Given the description of an element on the screen output the (x, y) to click on. 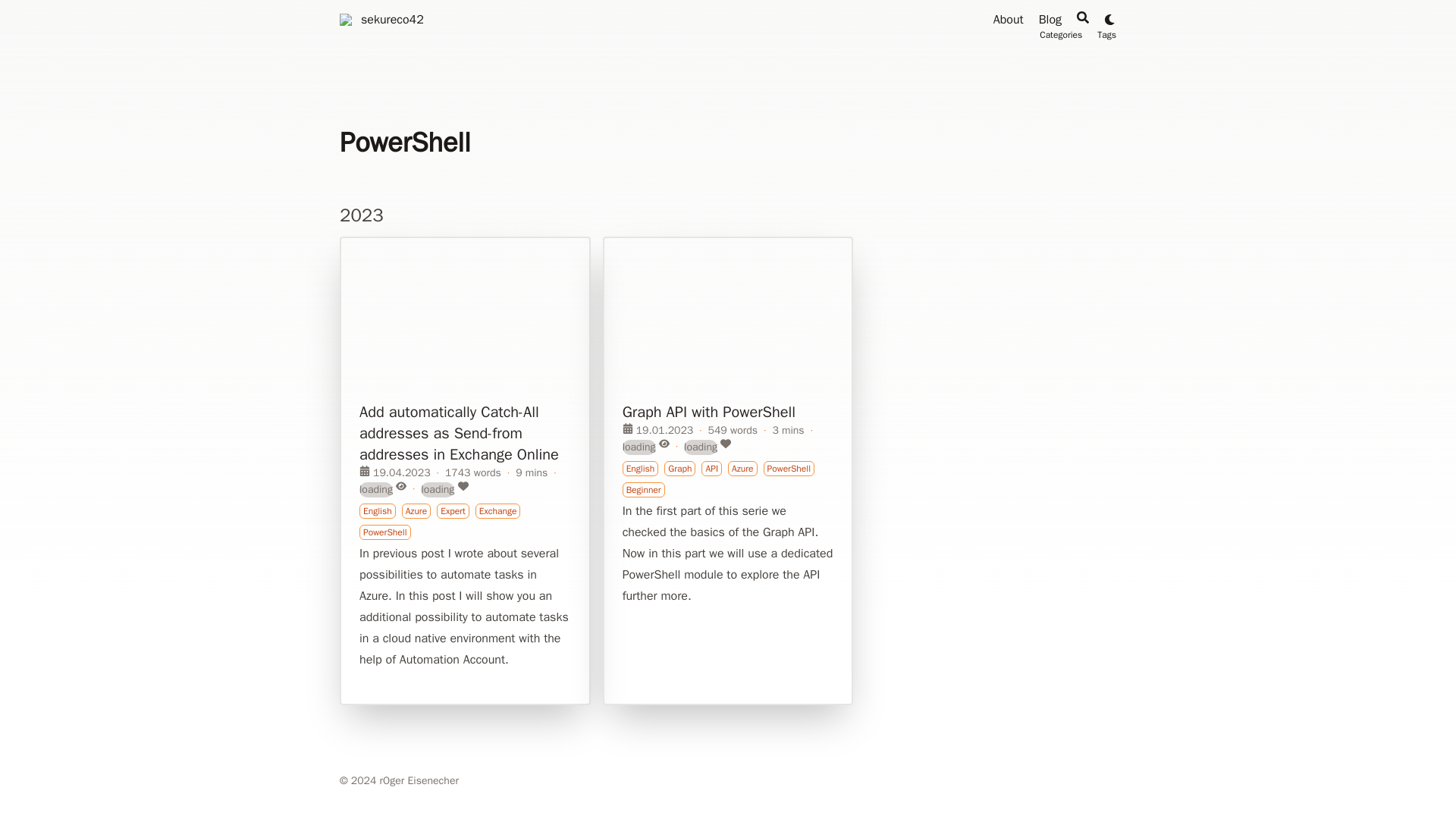
likes (437, 489)
sekureco42 (345, 19)
views (639, 447)
Reading time (787, 430)
likes (700, 447)
views (376, 489)
sekureco42 (392, 19)
Reading time (531, 473)
